Given the description of an element on the screen output the (x, y) to click on. 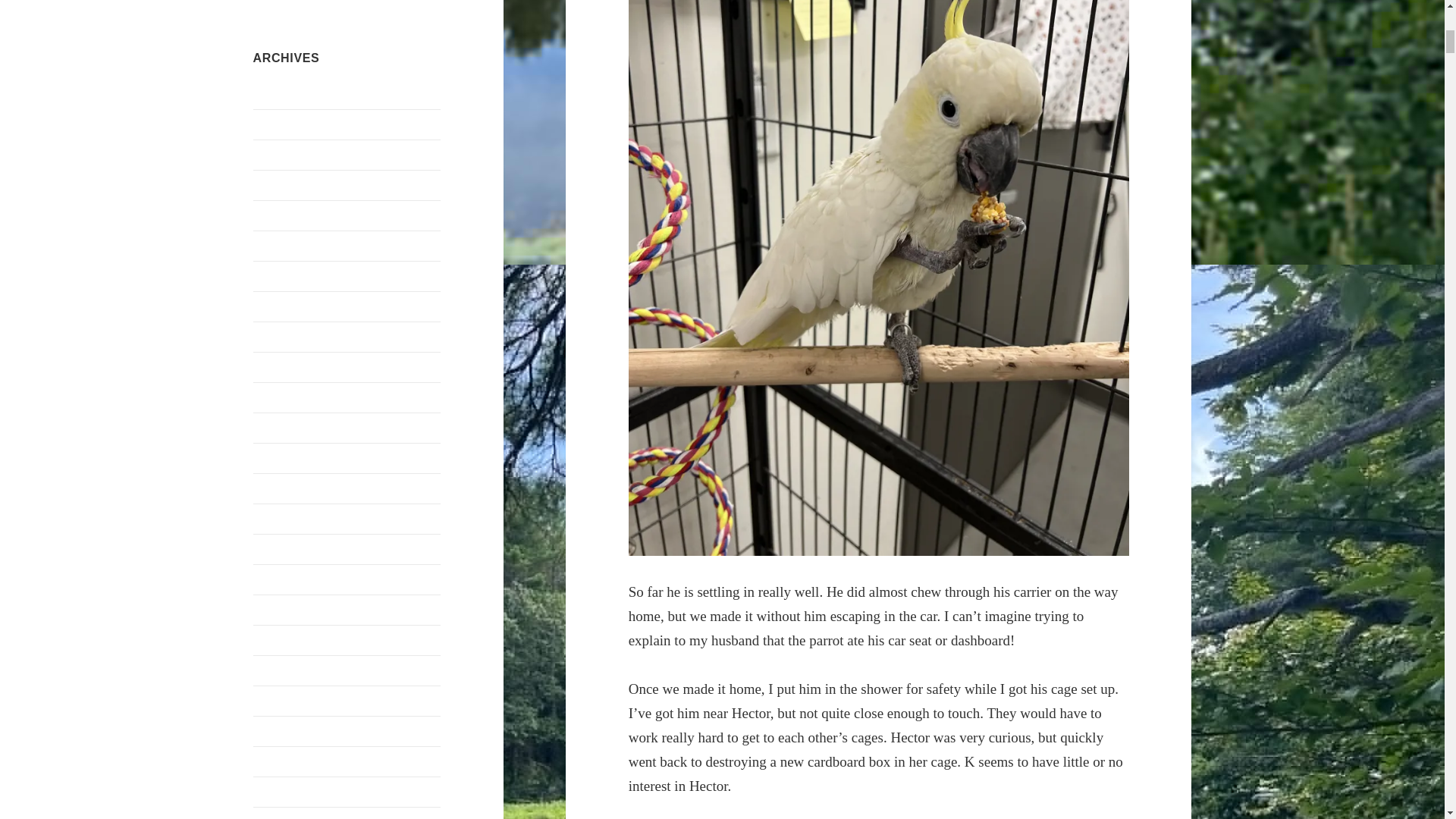
May 2022 (277, 670)
July 2023 (277, 306)
December 2022 (291, 488)
March 2023 (283, 397)
August 2022 (284, 609)
March 2022 (283, 730)
June 2022 (277, 640)
December 2023 (291, 276)
October 2022 (286, 549)
February 2024 (288, 215)
